Given the description of an element on the screen output the (x, y) to click on. 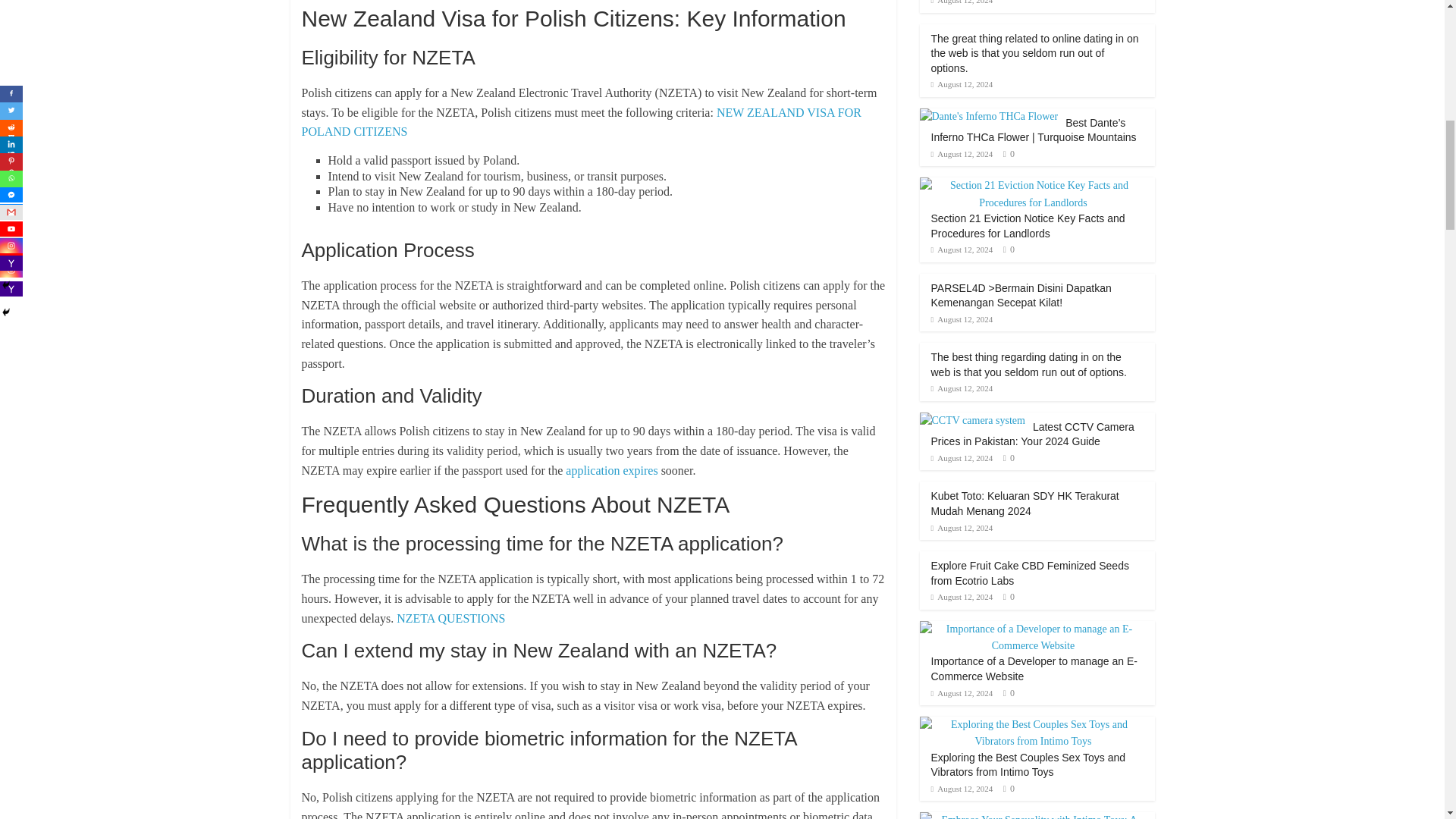
NZETA QUESTIONS (450, 617)
NEW ZEALAND VISA FOR POLAND CITIZENS (581, 122)
application expires (612, 470)
